Given the description of an element on the screen output the (x, y) to click on. 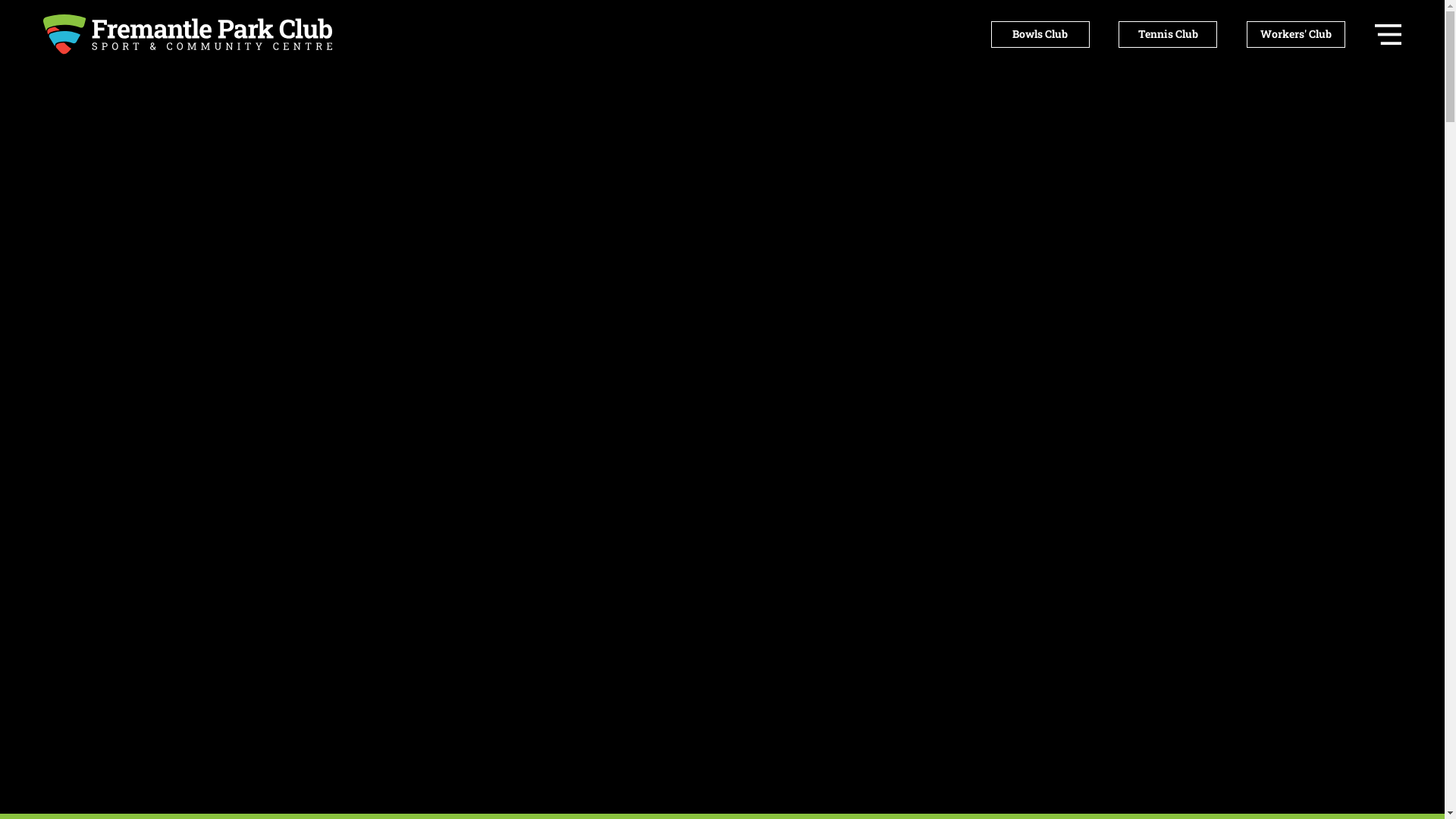
Bowls Club Element type: text (1040, 34)
Tennis Club Element type: text (1167, 34)
Workers' Club Element type: text (1295, 34)
